Given the description of an element on the screen output the (x, y) to click on. 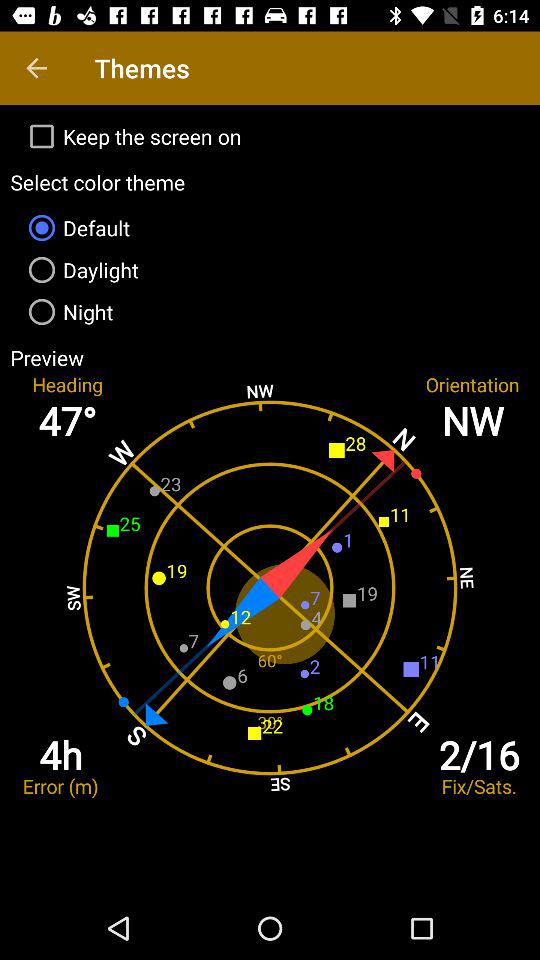
launch icon above daylight item (270, 228)
